Given the description of an element on the screen output the (x, y) to click on. 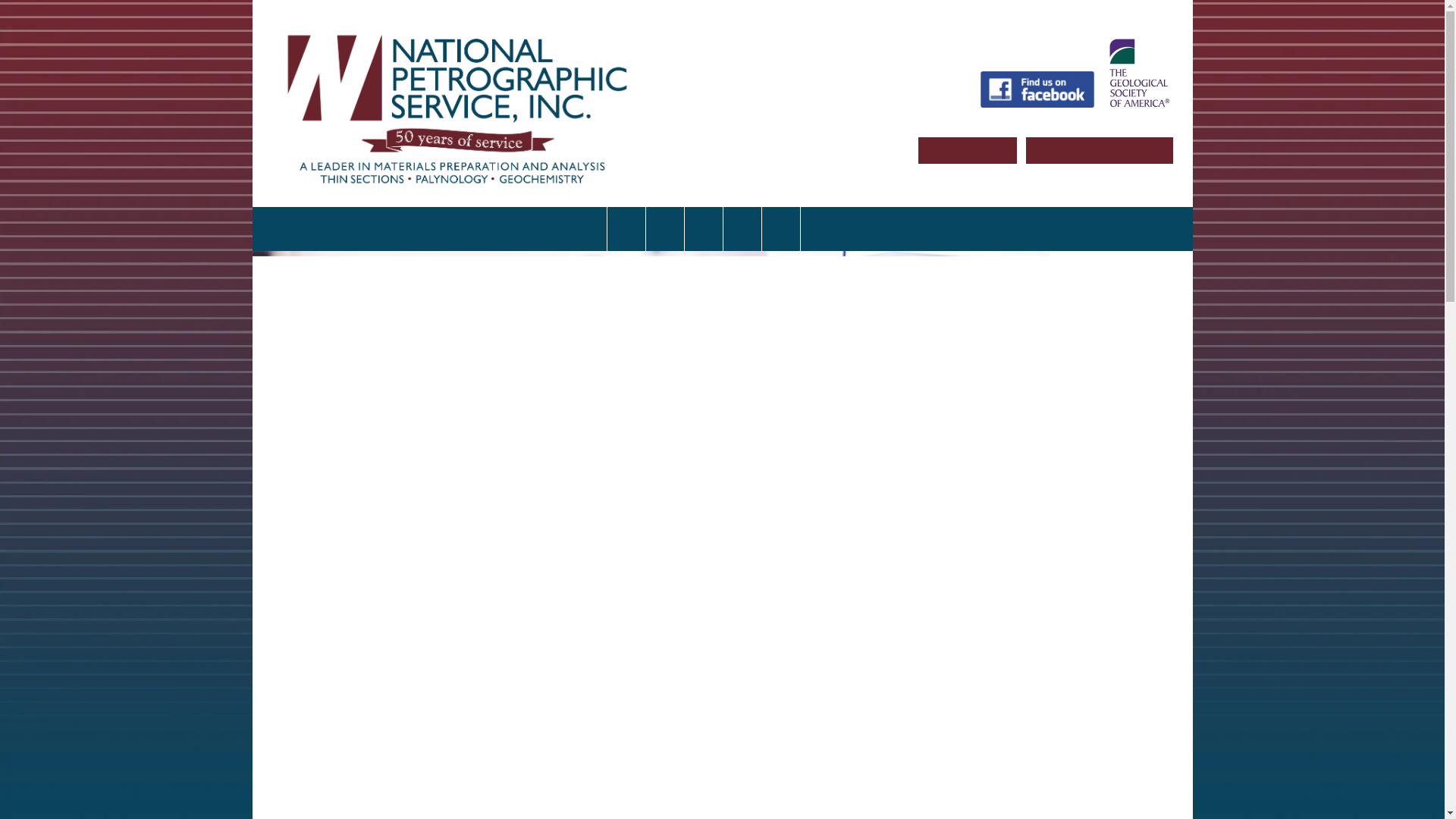
Find Us on Facebook (1036, 89)
Go to site home page (456, 103)
Email Us (966, 148)
